Given the description of an element on the screen output the (x, y) to click on. 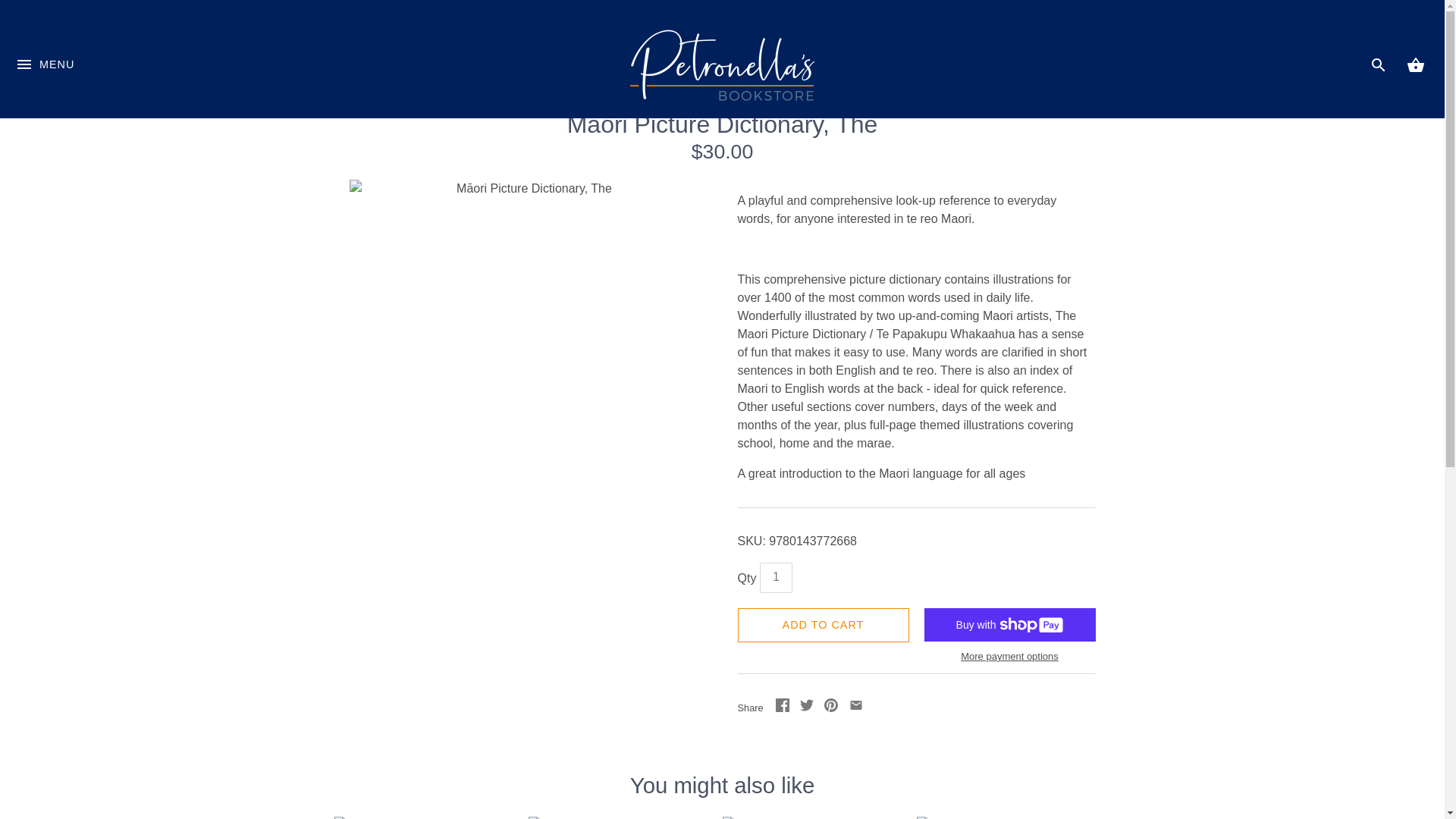
Pin the main image (831, 707)
SEARCH (1378, 65)
Share on Facebook (781, 707)
CART (1415, 65)
Share on Twitter (806, 707)
1 (776, 577)
Email this product to somebody (855, 707)
